Given the description of an element on the screen output the (x, y) to click on. 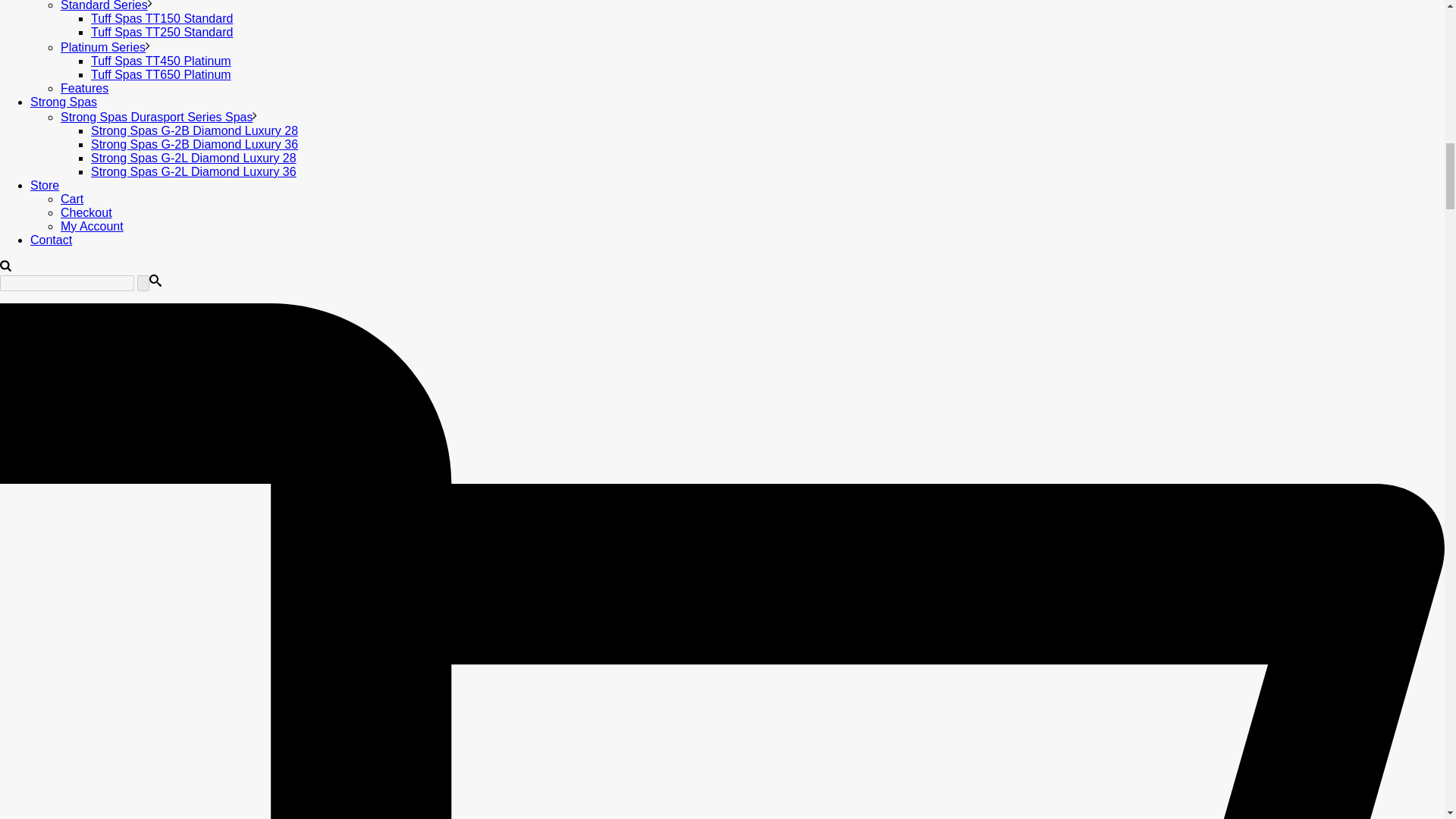
Tuff Spas TT250 Standard (161, 31)
Tuff Spas TT650 Platinum (160, 74)
Features (84, 88)
Cart (71, 198)
Strong Spas Durasport Series Spas (156, 116)
Strong Spas (63, 101)
Checkout (86, 212)
Strong Spas G-2B Diamond Luxury 36 (194, 144)
Strong Spas G-2L Diamond Luxury 36 (193, 171)
Store (44, 185)
Tuff Spas TT450 Platinum (160, 60)
Strong Spas G-2L Diamond Luxury 28 (193, 157)
Platinum Series (103, 47)
My Account (92, 226)
Tuff Spas TT150 Standard (161, 18)
